Given the description of an element on the screen output the (x, y) to click on. 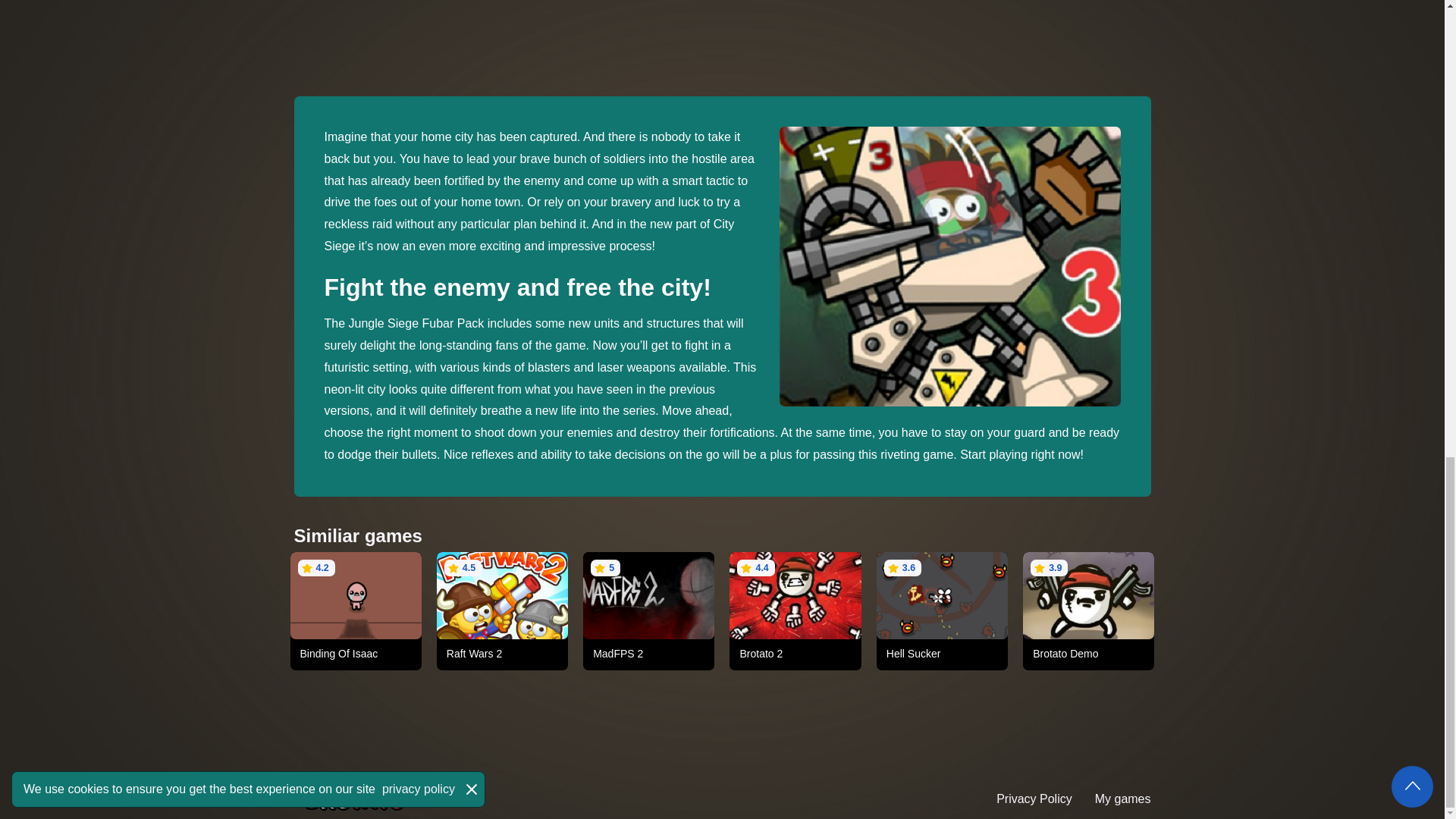
Binding Of Isaac (355, 653)
Hell Sucker (941, 653)
Raft Wars 2 (501, 653)
Privacy Policy (1033, 798)
Advertisement (1014, 21)
Brotato 2 (794, 653)
MadFPS 2 (648, 653)
Brotato Demo (1088, 653)
My games (1122, 798)
